Given the description of an element on the screen output the (x, y) to click on. 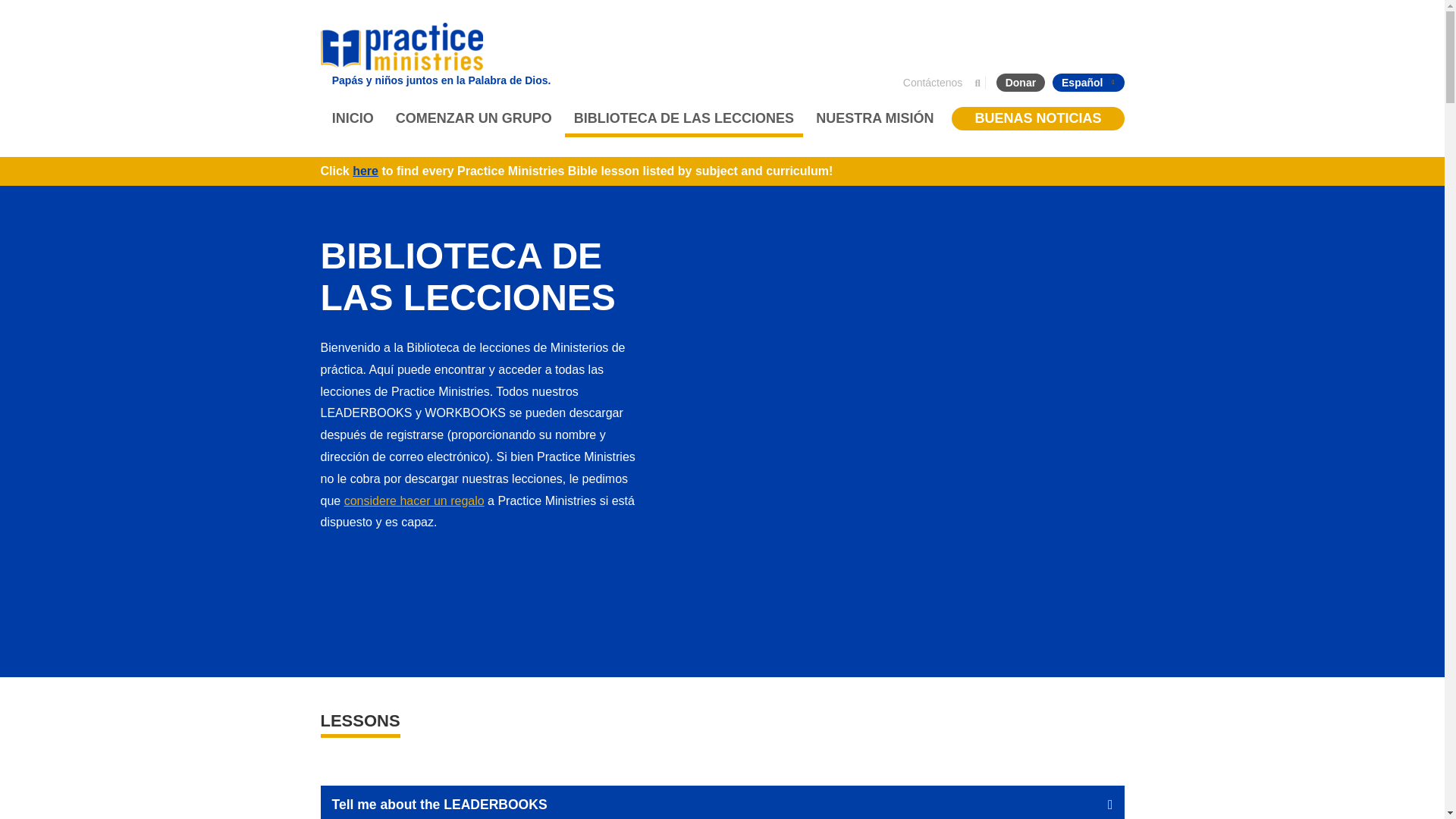
Donar (1020, 82)
